Given the description of an element on the screen output the (x, y) to click on. 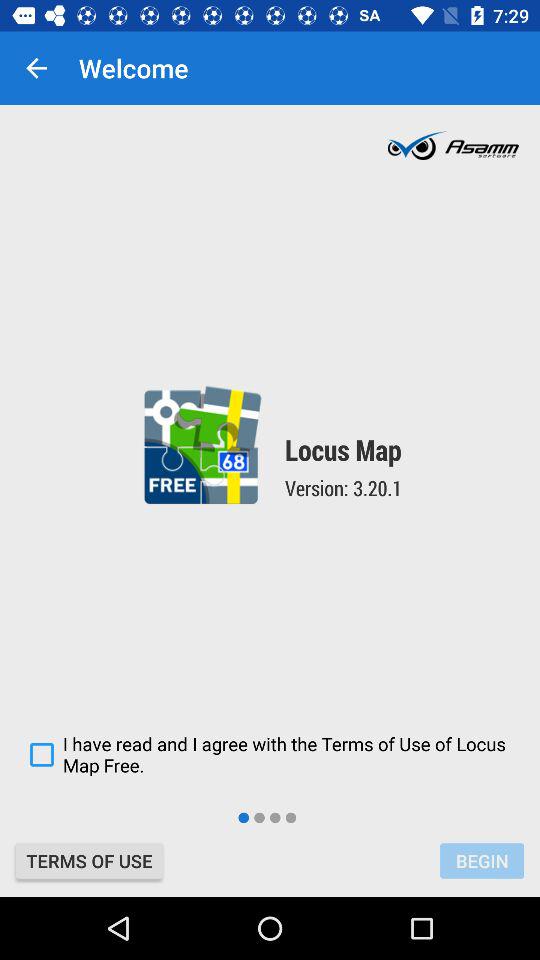
press the app next to welcome icon (36, 68)
